Given the description of an element on the screen output the (x, y) to click on. 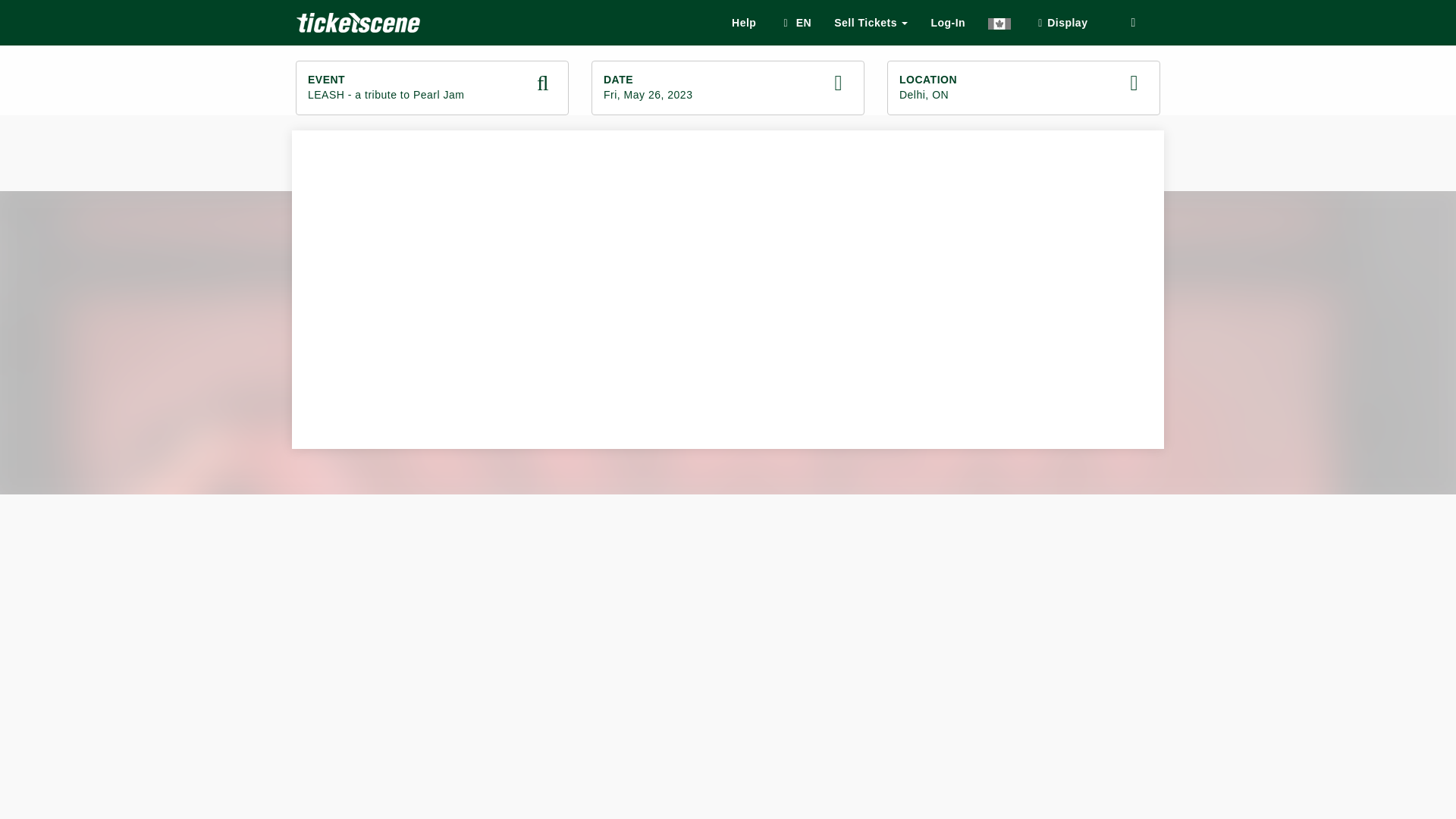
Sell Tickets (870, 22)
EN (794, 22)
Display (1060, 22)
Help (432, 87)
More Events at Capitol 33 (1023, 87)
Log-In (743, 22)
